Given the description of an element on the screen output the (x, y) to click on. 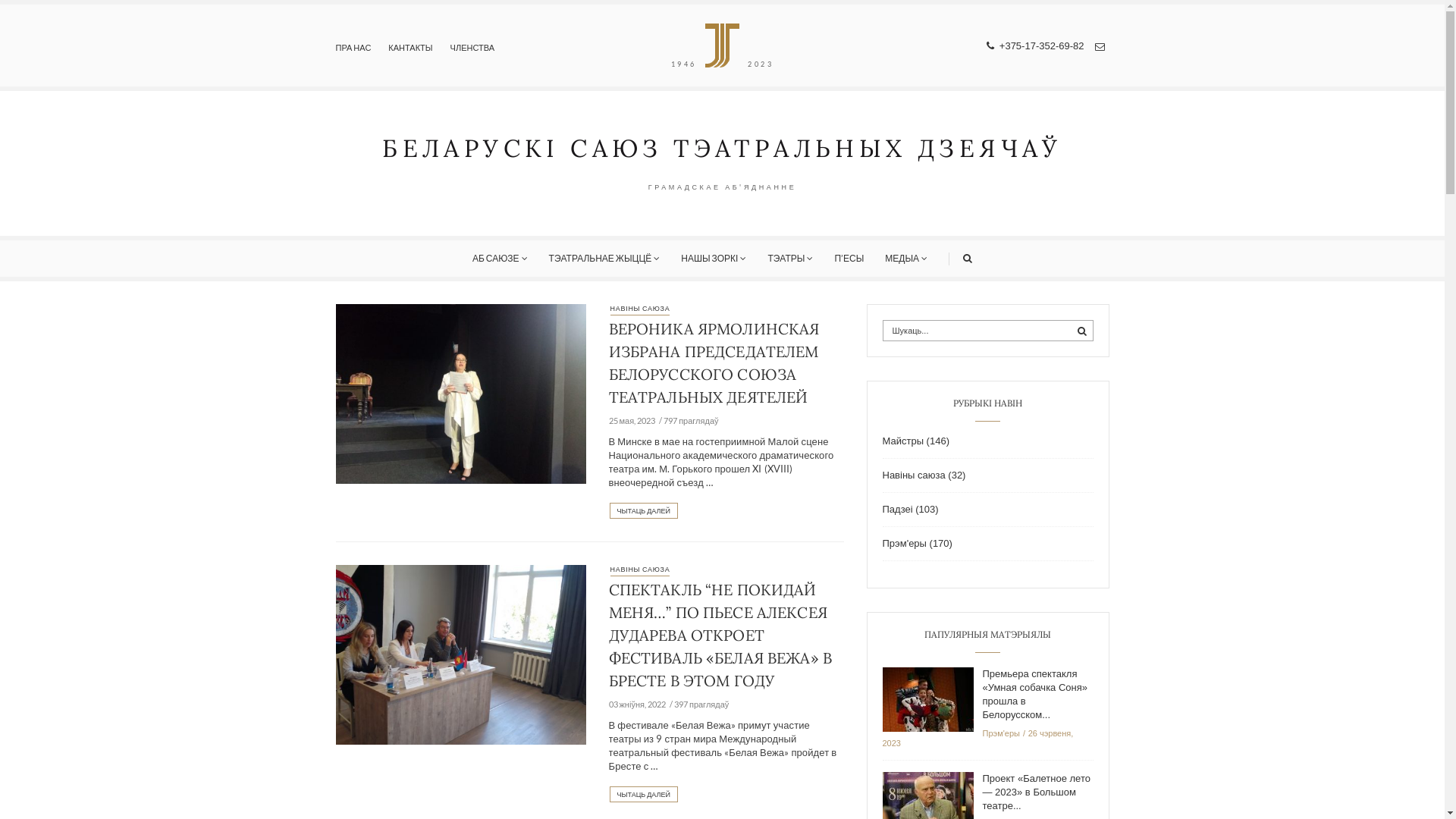
  +375-17-352-69-82 Element type: text (1035, 45)
